Given the description of an element on the screen output the (x, y) to click on. 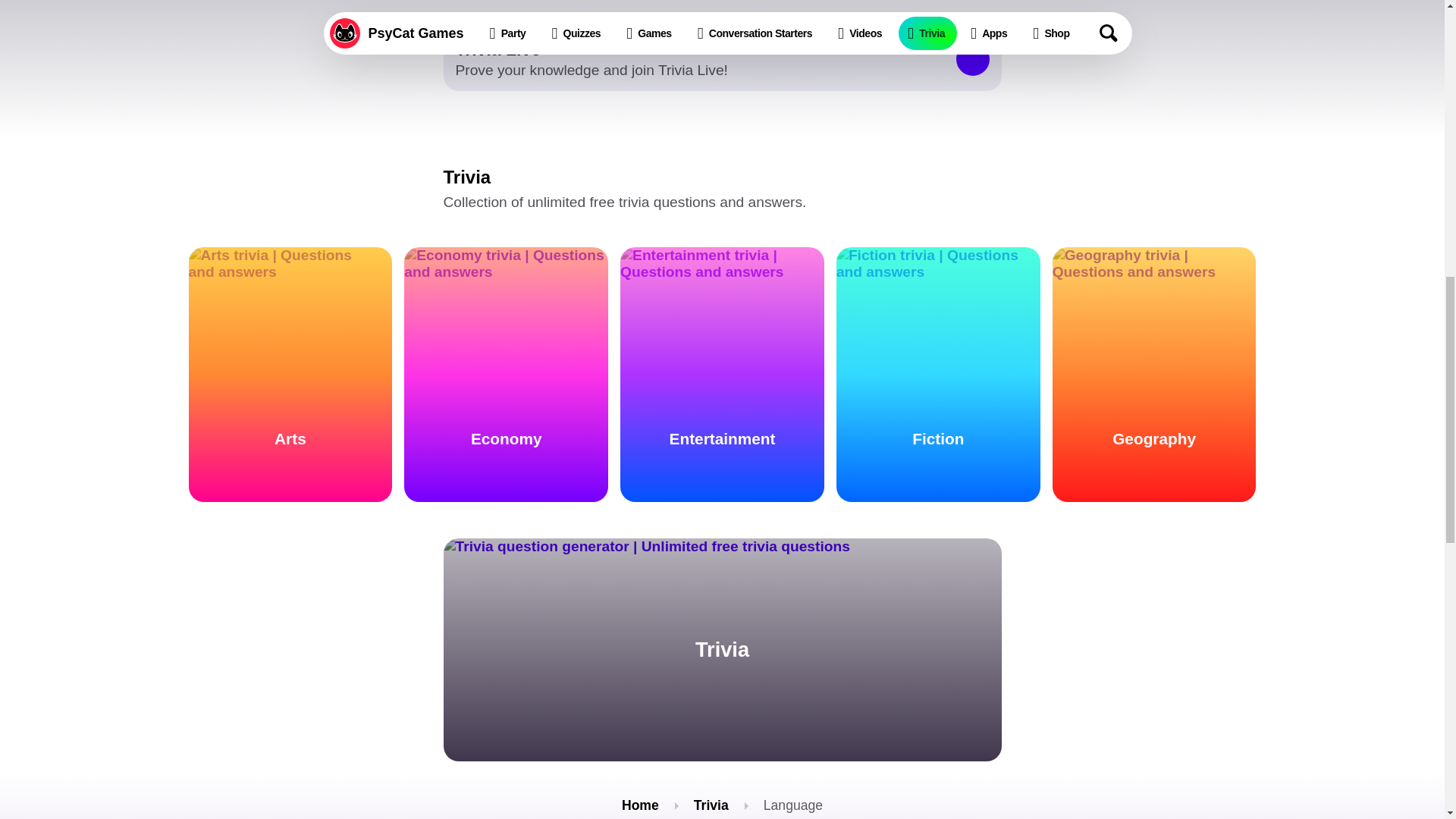
Home (640, 805)
Trivia (721, 649)
Trivia (711, 805)
Trivia (721, 58)
